Given the description of an element on the screen output the (x, y) to click on. 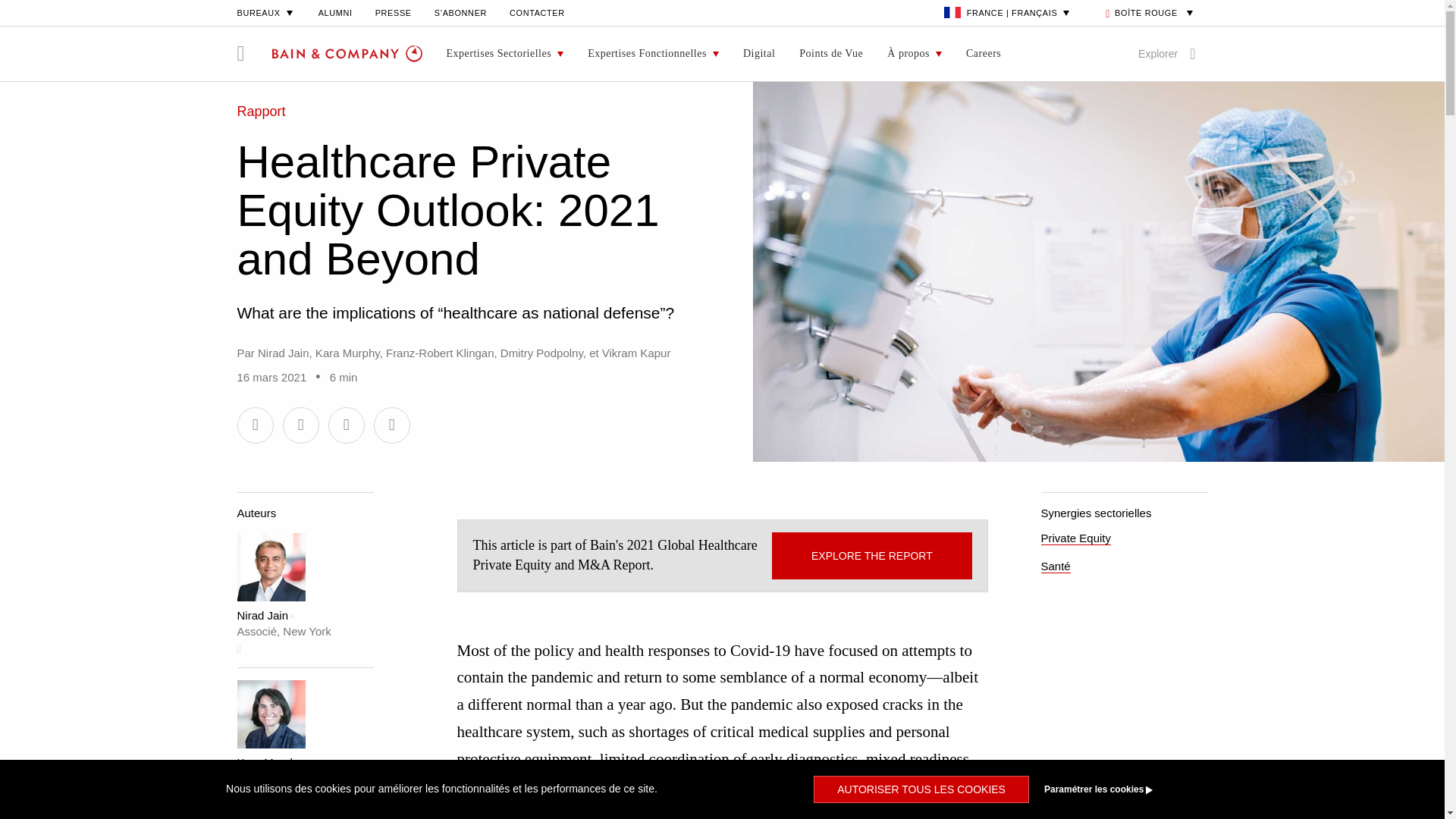
AUTORISER TOUS LES COOKIES (921, 789)
BUREAUX (265, 12)
